Given the description of an element on the screen output the (x, y) to click on. 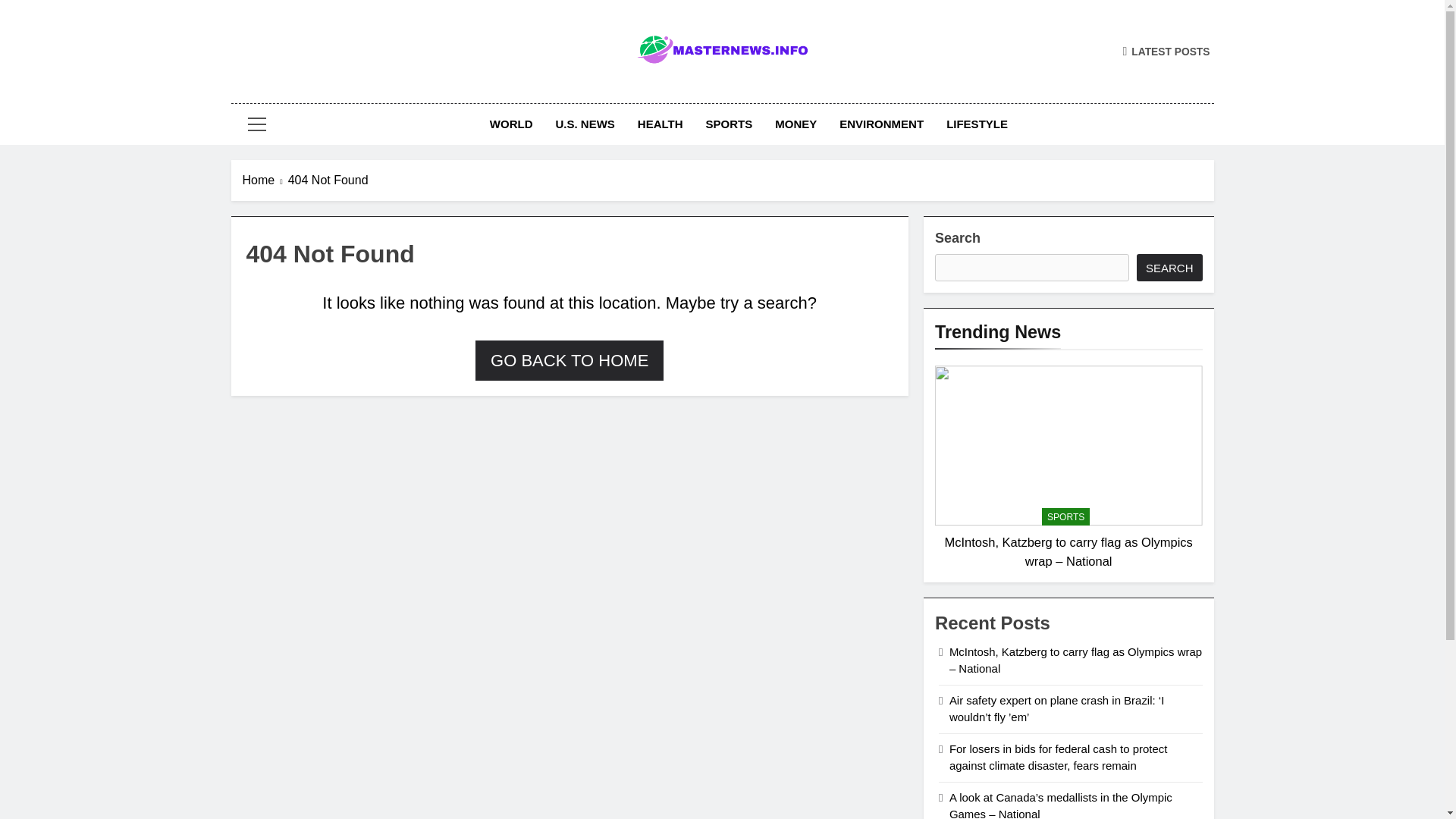
Home (265, 180)
GO BACK TO HOME (569, 360)
SPORTS (1065, 516)
LIFESTYLE (976, 124)
Masternews.Info (603, 89)
ENVIRONMENT (881, 124)
HEALTH (660, 124)
SEARCH (1169, 267)
U.S. NEWS (585, 124)
MONEY (795, 124)
